Given the description of an element on the screen output the (x, y) to click on. 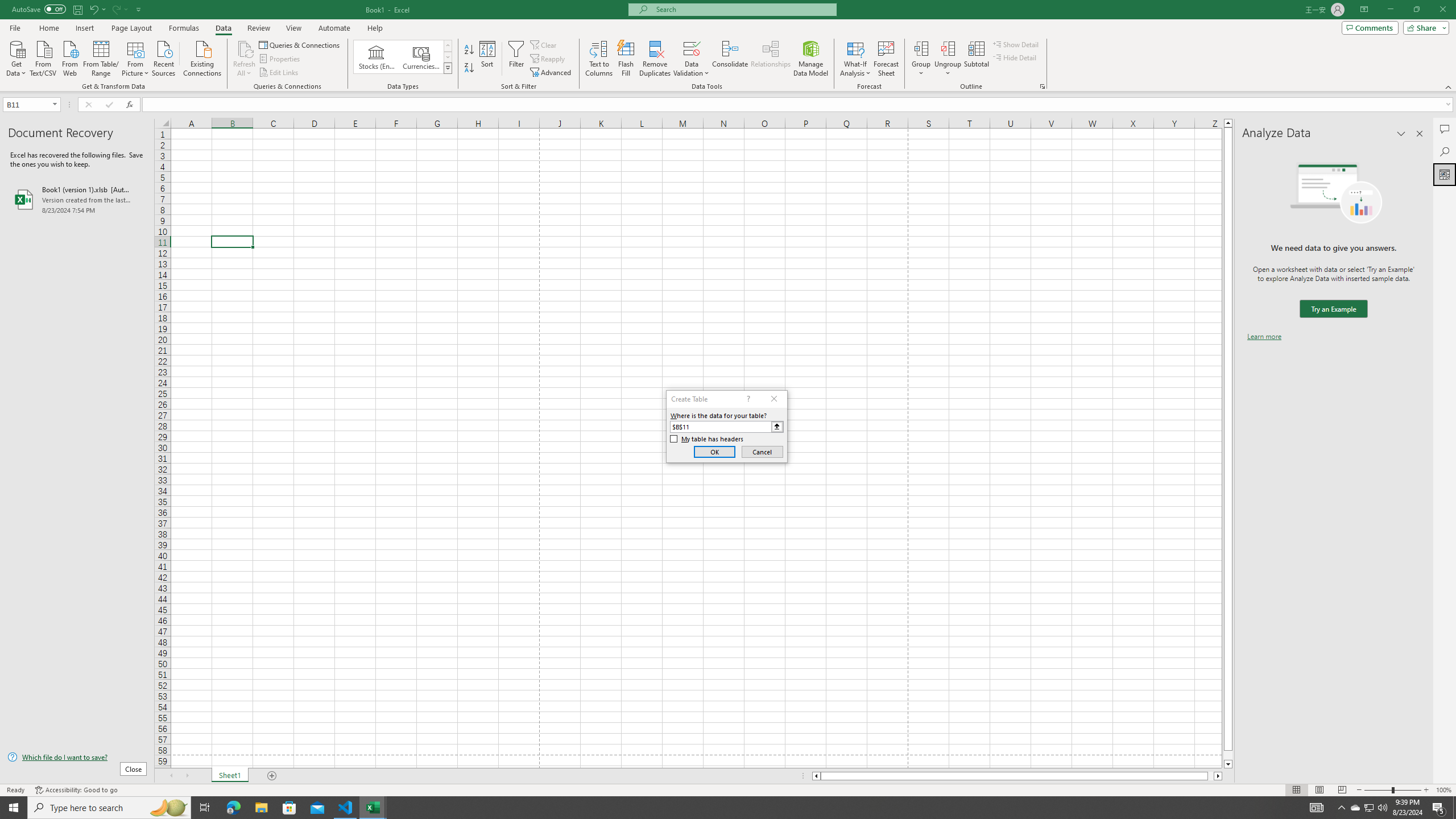
From Web (69, 57)
We need data to give you answers. Try an Example (1333, 308)
Search (1444, 151)
